Given the description of an element on the screen output the (x, y) to click on. 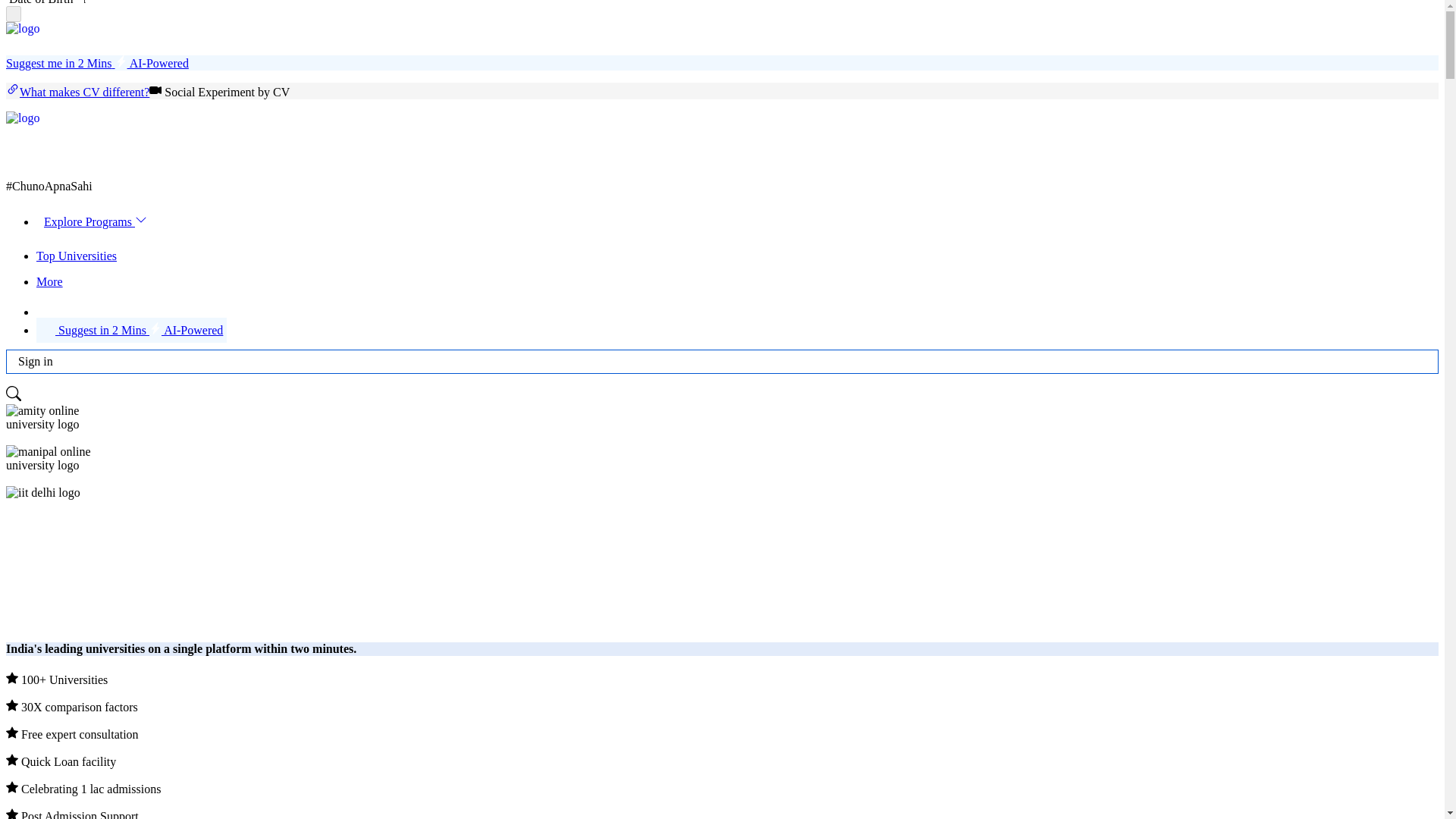
Suggest in 2 Mins AI-Powered (131, 330)
What makes CV different? (77, 91)
